Given the description of an element on the screen output the (x, y) to click on. 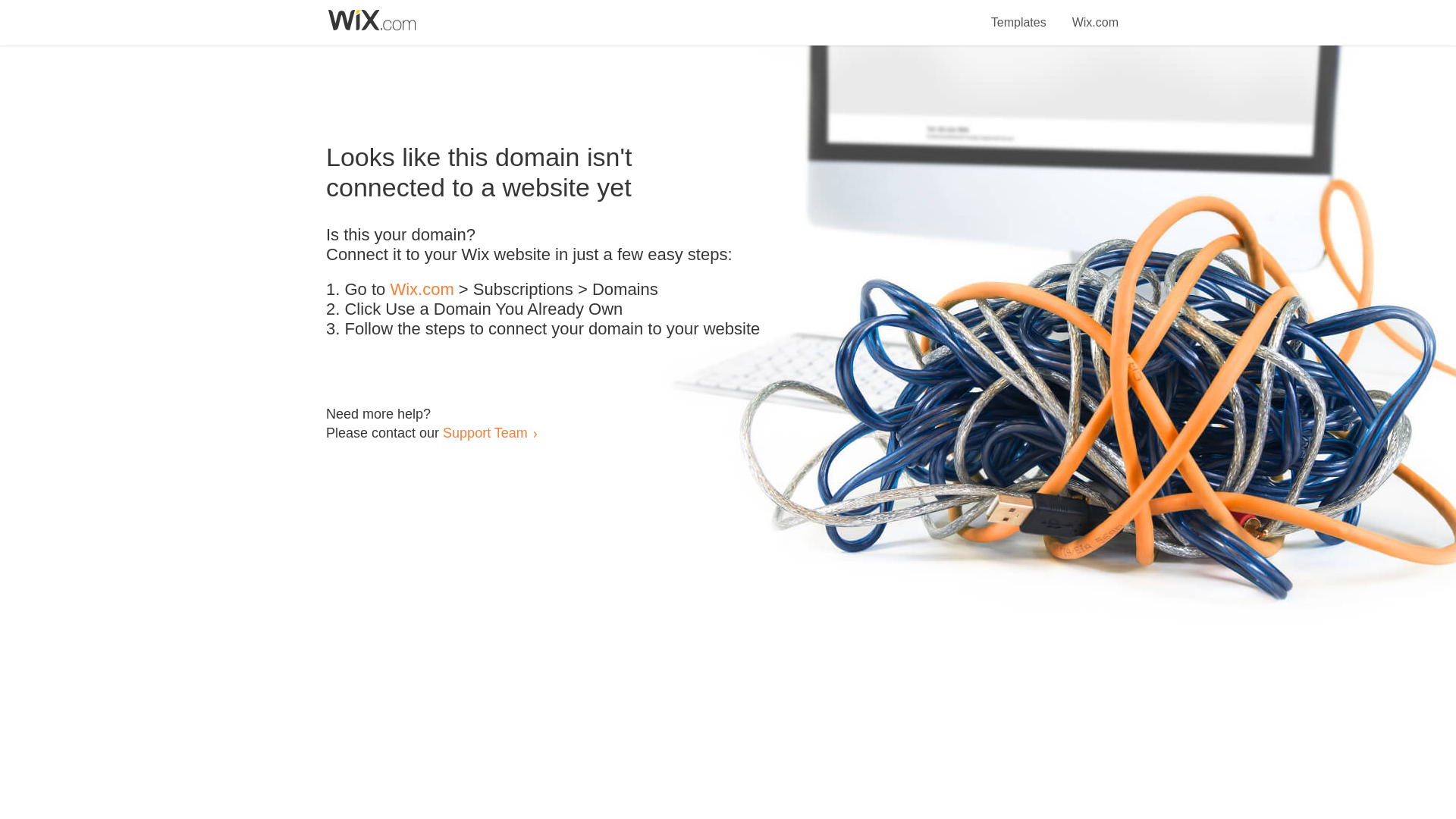
Support Team (484, 432)
Wix.com (1095, 14)
Templates (1018, 14)
Wix.com (421, 289)
